Given the description of an element on the screen output the (x, y) to click on. 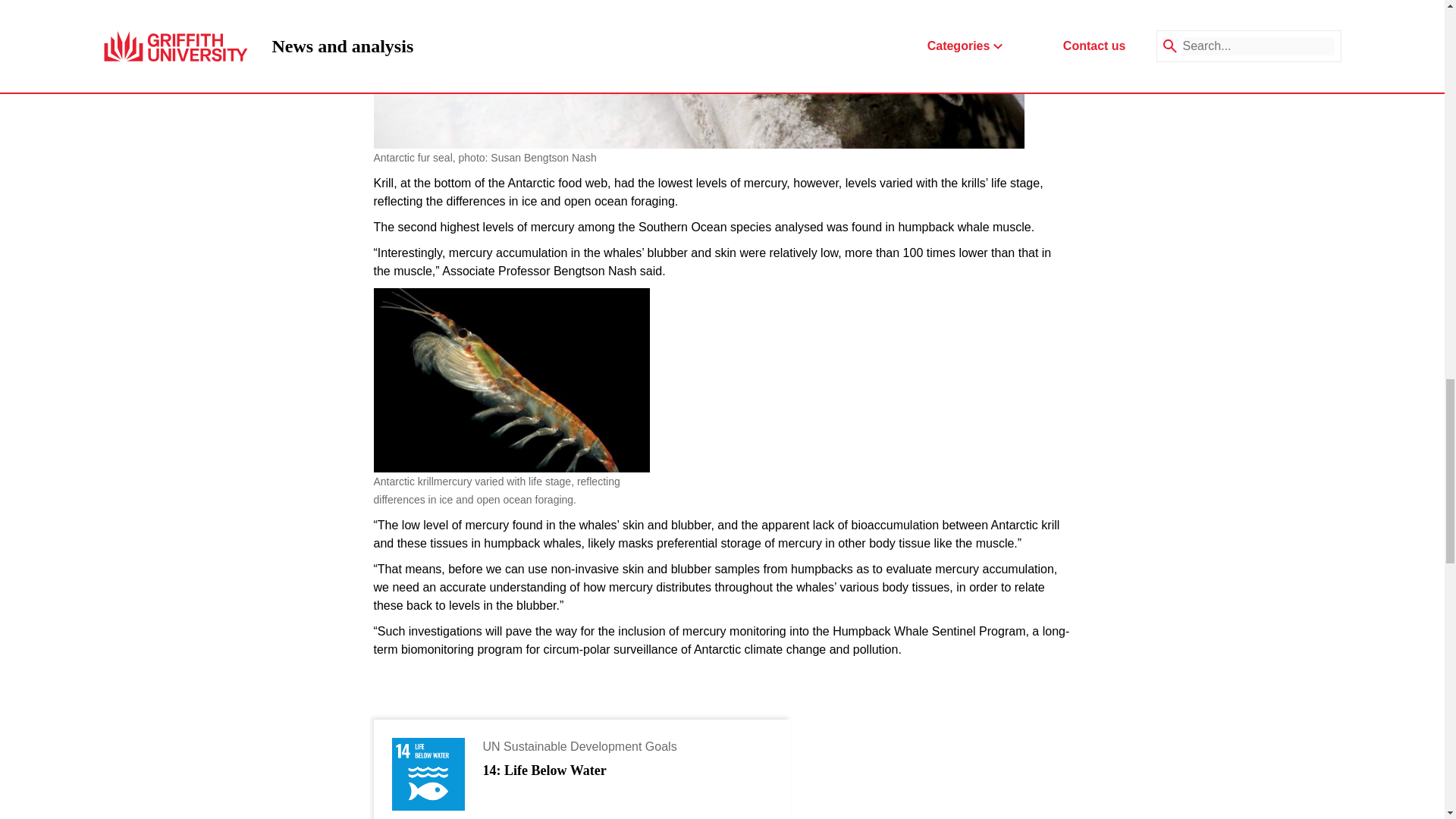
14: Life Below Water (543, 771)
